Given the description of an element on the screen output the (x, y) to click on. 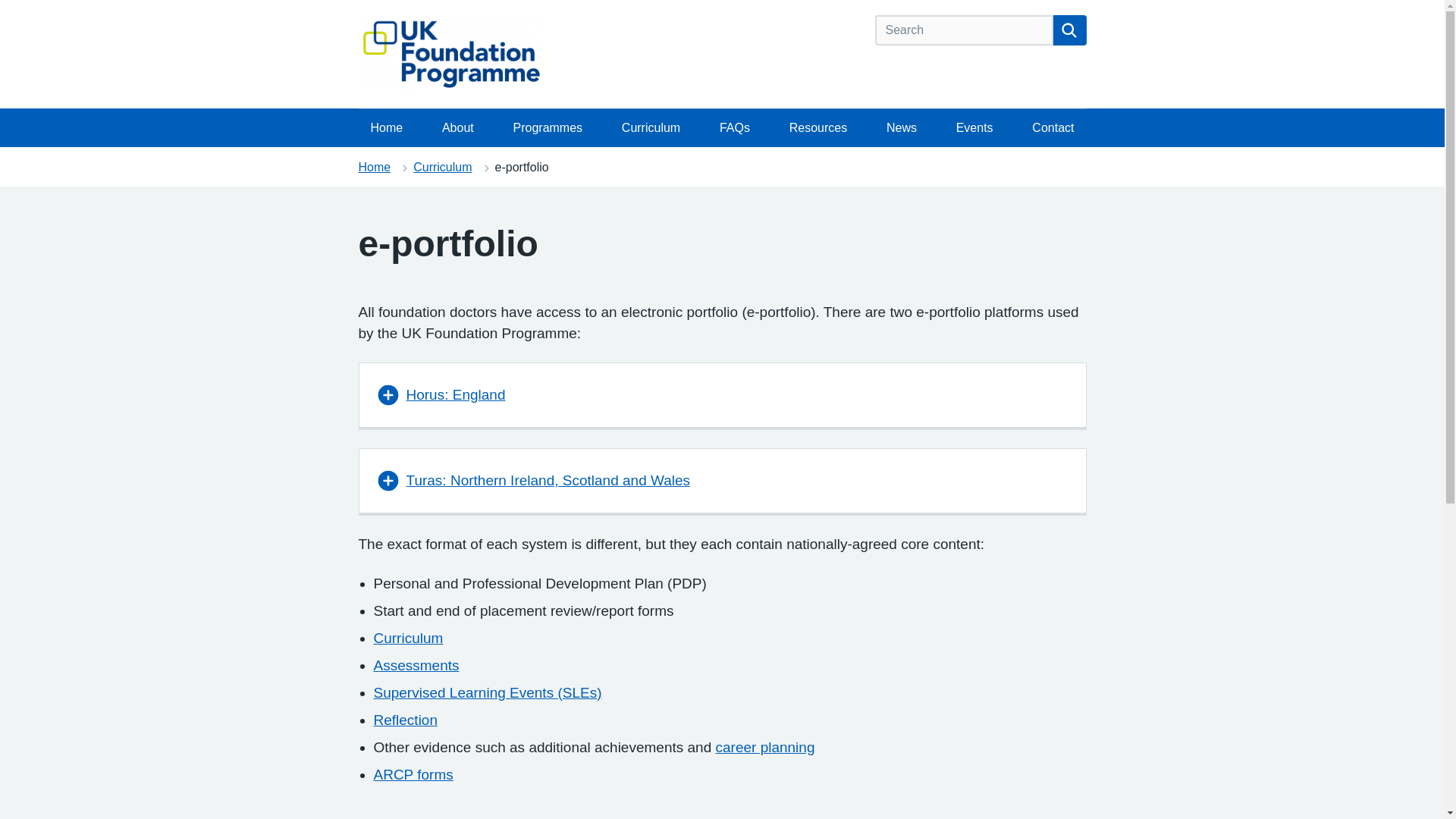
Contact (1053, 127)
Home (386, 127)
Search (1069, 30)
FAQs (734, 127)
Events (974, 127)
Curriculum (651, 127)
Assessments (415, 665)
About (457, 127)
ARCP forms (412, 774)
Resources (818, 127)
